Given the description of an element on the screen output the (x, y) to click on. 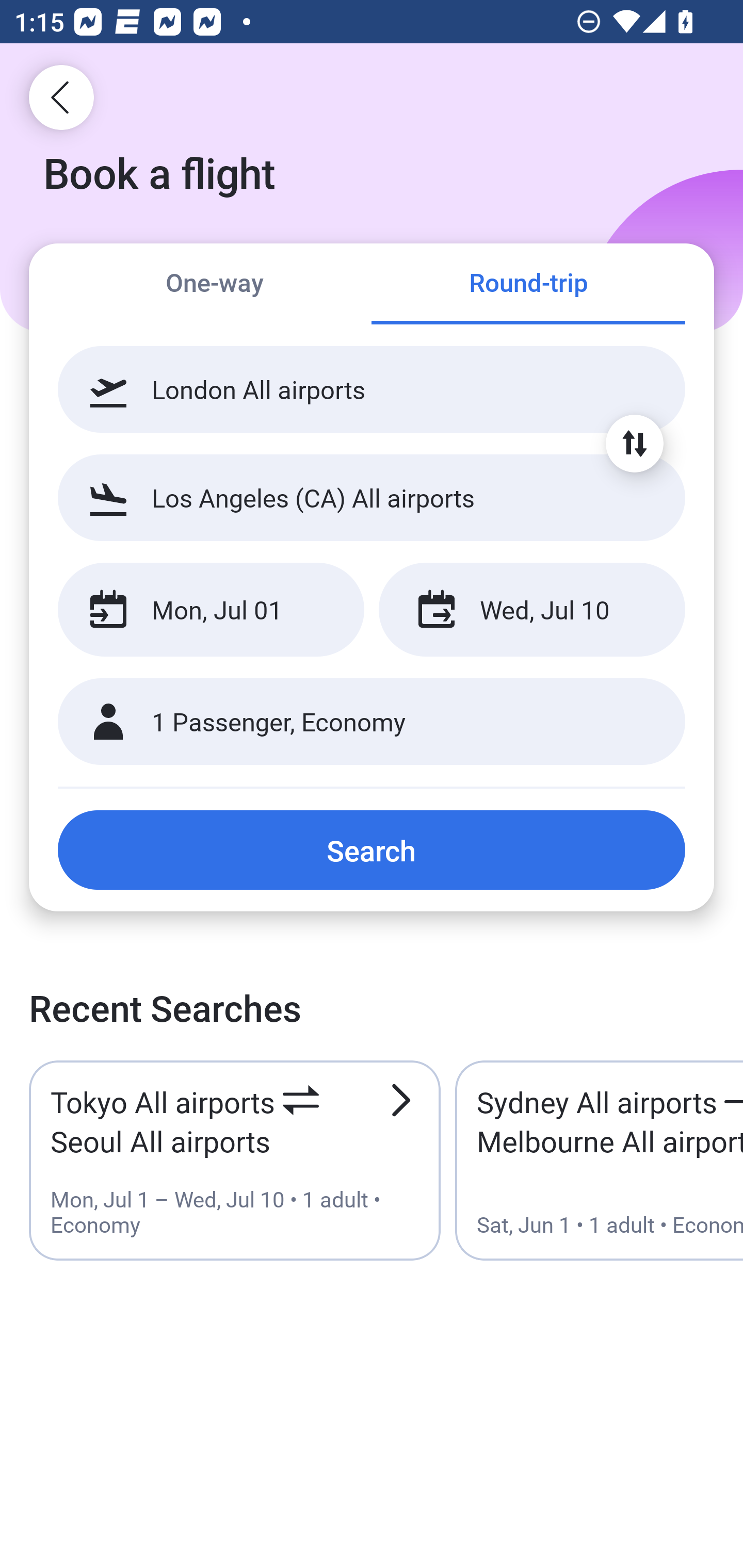
One-way (214, 284)
London All airports (371, 389)
Los Angeles (CA) All airports (371, 497)
Mon, Jul 01 (210, 609)
Wed, Jul 10 (531, 609)
1 Passenger, Economy (371, 721)
Search (371, 849)
